Given the description of an element on the screen output the (x, y) to click on. 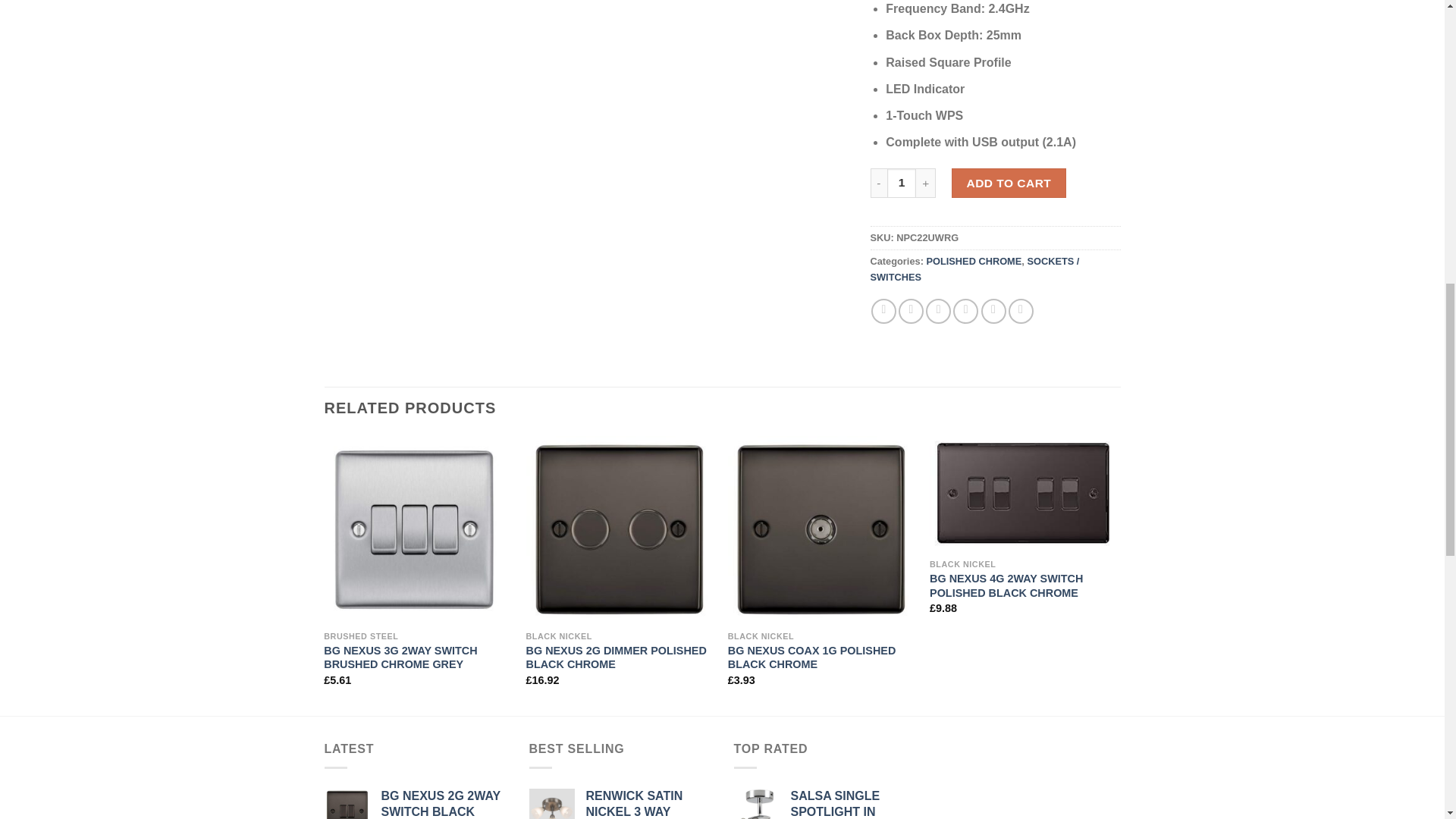
Qty (901, 183)
1 (901, 183)
